Given the description of an element on the screen output the (x, y) to click on. 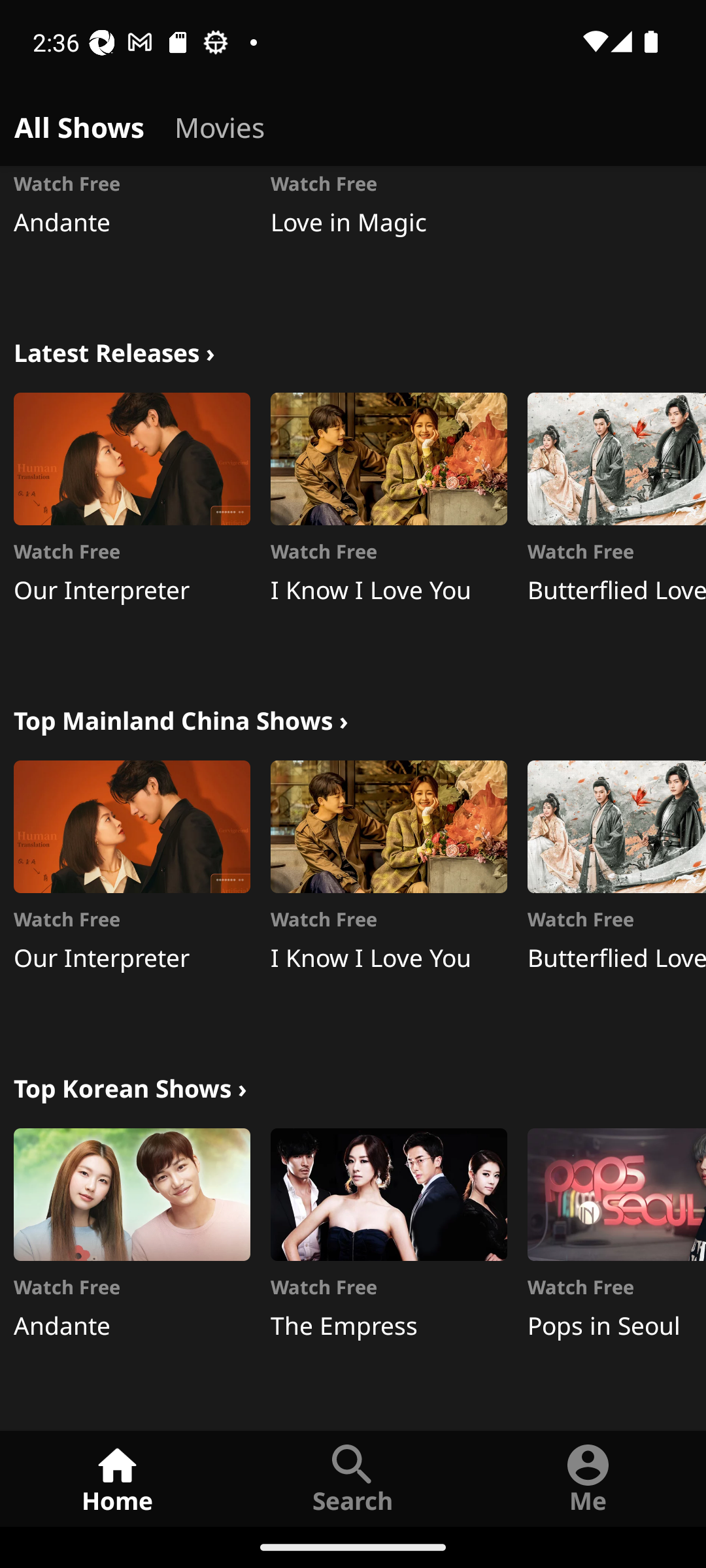
home_tab_movies Movies (219, 124)
resource_cell Watch Free Andante (131, 233)
resource_cell Watch Free Love in Magic (388, 233)
Latest Releases › all_new (114, 350)
Top Mainland China Shows › china_trending (180, 718)
Top Korean Shows › korean_trending (130, 1085)
Search (352, 1478)
Me (588, 1478)
